Given the description of an element on the screen output the (x, y) to click on. 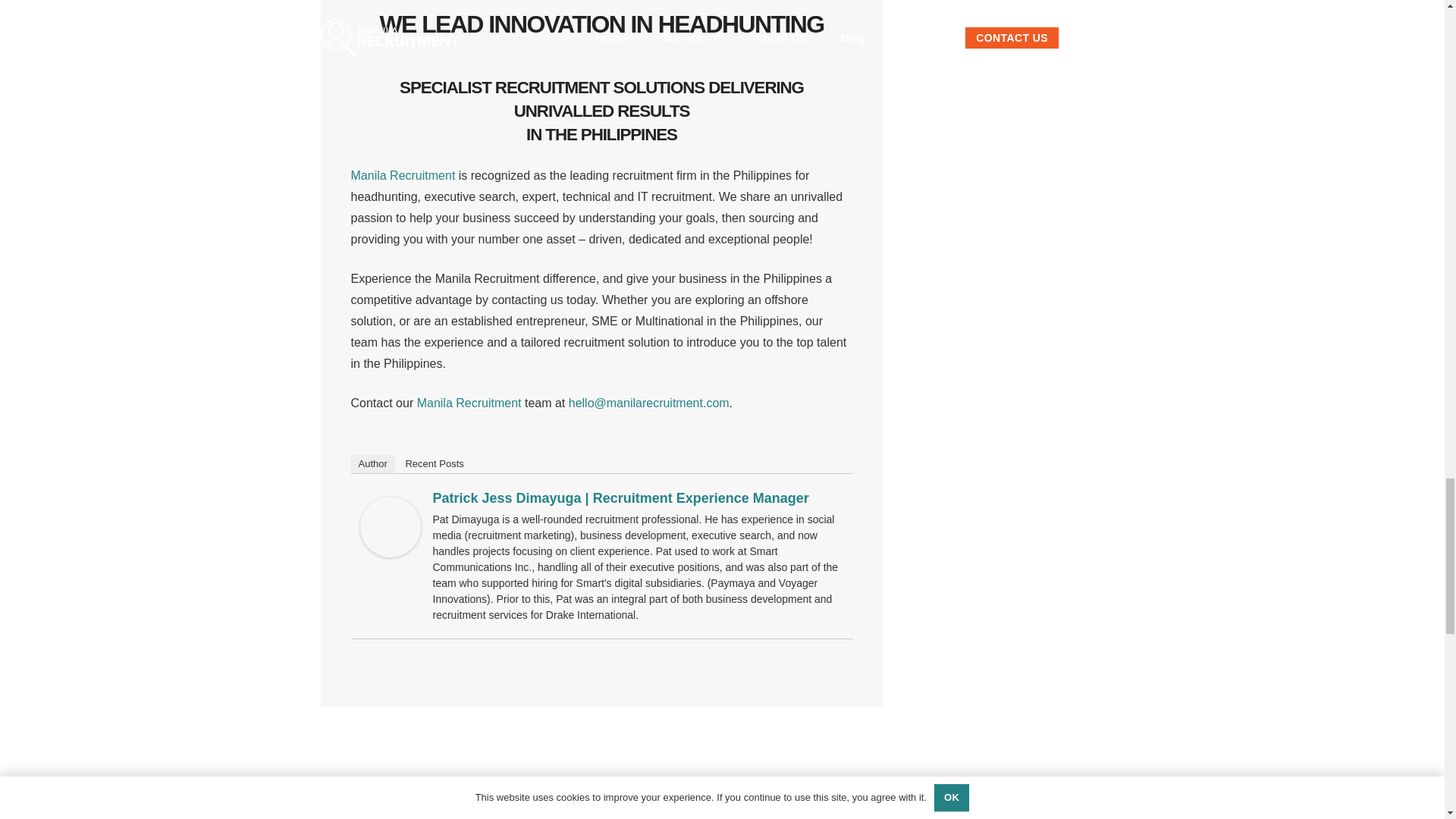
Manila Recruitment (402, 174)
Manila Recruitment (468, 402)
Author (372, 464)
Recent Posts (433, 464)
